Given the description of an element on the screen output the (x, y) to click on. 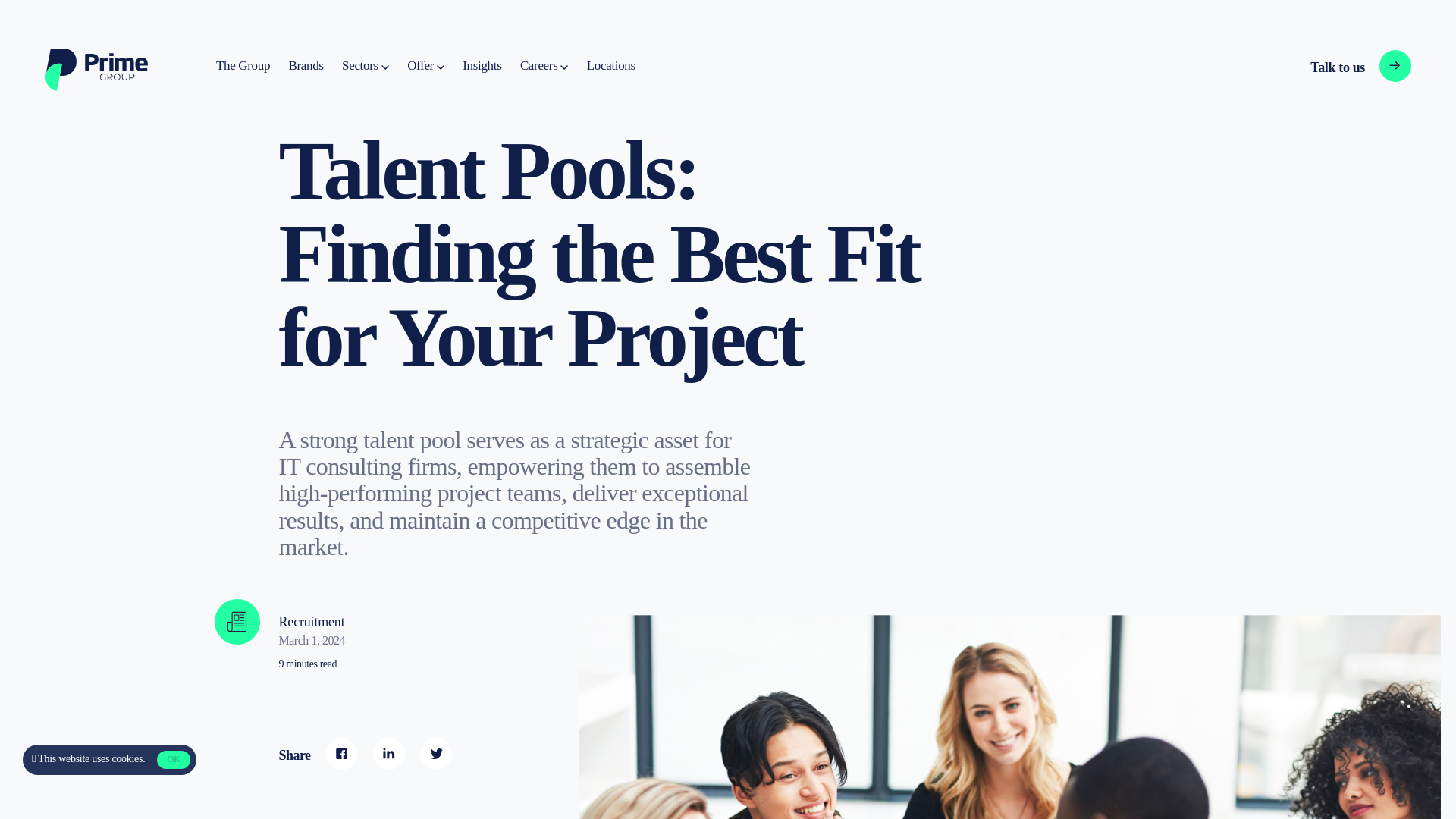
OK (173, 760)
Careers (543, 66)
Brands (305, 66)
Offer (425, 66)
The Group (1334, 67)
uses cookies. (242, 66)
Locations (117, 758)
Insights (610, 66)
Sectors (481, 66)
